Given the description of an element on the screen output the (x, y) to click on. 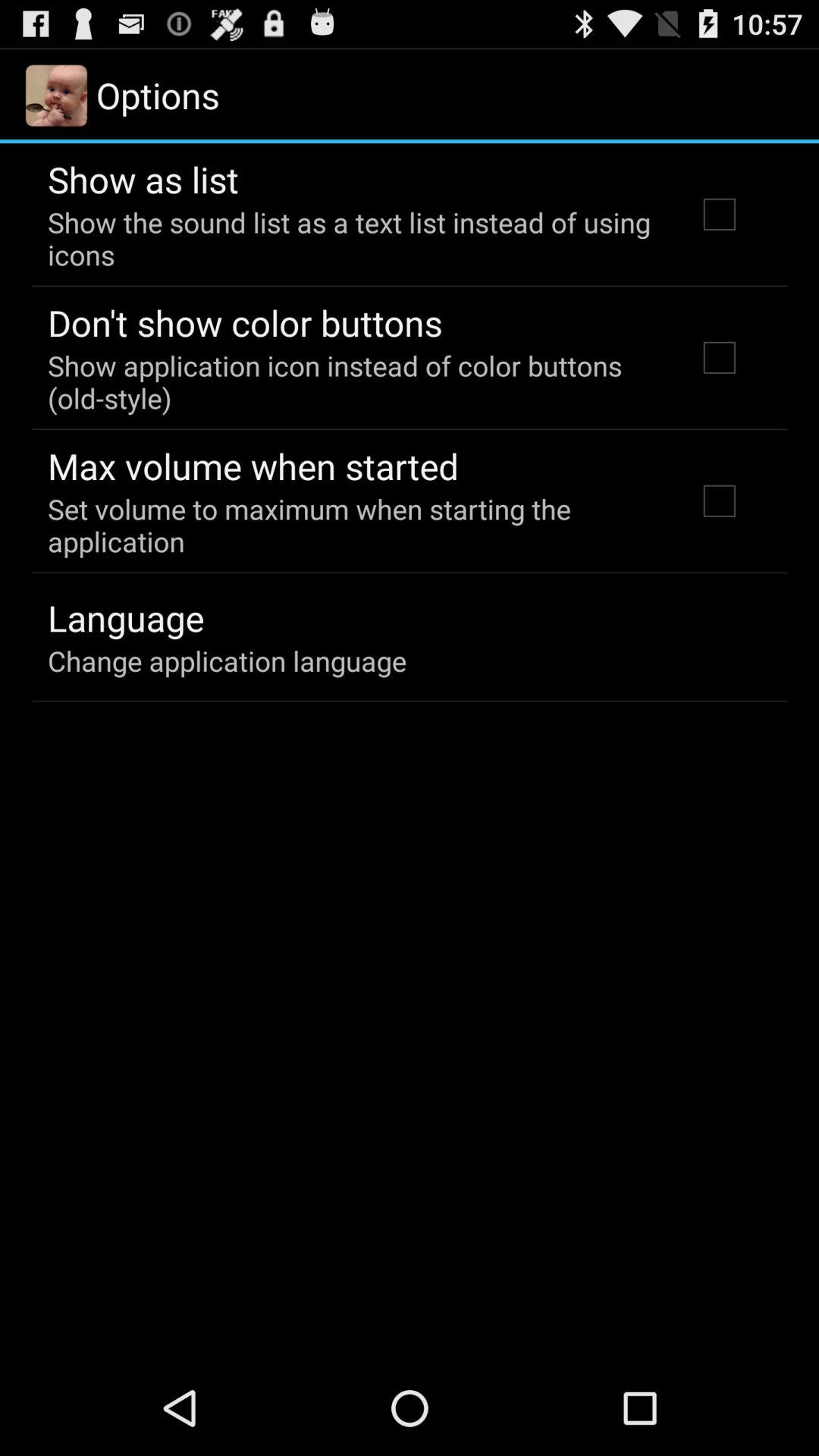
open item above the show application icon item (244, 322)
